Given the description of an element on the screen output the (x, y) to click on. 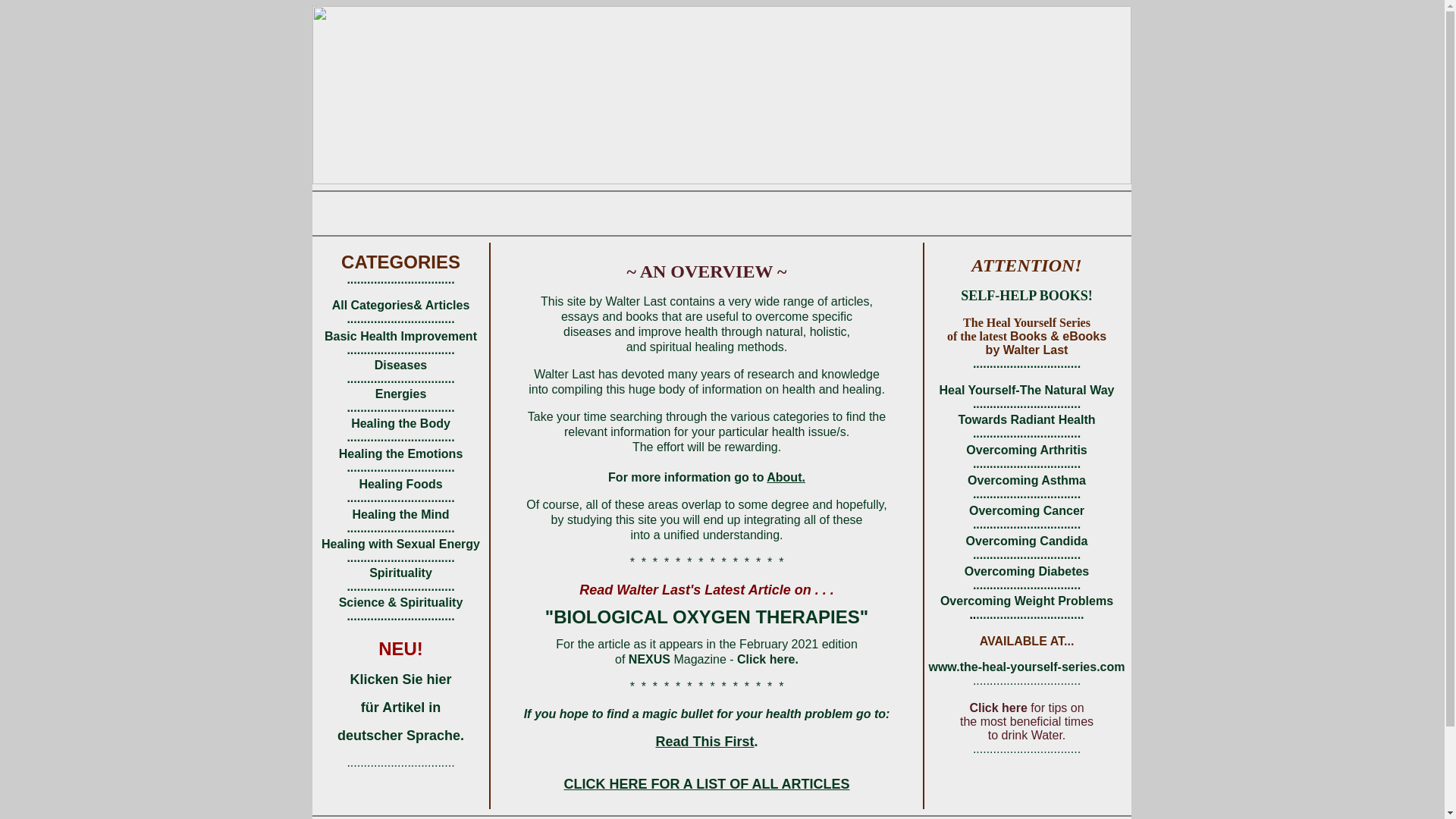
Overcoming Candida Element type: text (1027, 539)
................................ Element type: text (1029, 614)
CLICK HERE FOR A LIST OF ALL ARTICLES Element type: text (707, 783)
. Element type: text (755, 741)
Overcoming Asthma Element type: text (1026, 479)
www.the-heal-yourself-series.com Element type: text (1026, 665)
................................ Element type: text (400, 527)
Healing the Emotions Element type: text (400, 453)
Click here. Element type: text (767, 658)
Healing with Sexual Energy Element type: text (400, 543)
................................ Element type: text (400, 615)
Science & Spirituality Element type: text (400, 602)
"BIOLOGICAL OXYGEN THERAPIES" Element type: text (706, 616)
Healing Foods Element type: text (400, 483)
................................ Element type: text (400, 557)
Heal Yourself-The Natural Way Element type: text (1026, 389)
Overcoming Diabetes Element type: text (1026, 570)
Spirituality Element type: text (400, 572)
deutscher Sprache. Element type: text (400, 735)
Towards Radiant Health Element type: text (1026, 418)
About Element type: text (783, 476)
Energies Element type: text (400, 393)
Overcoming Weight Problems Element type: text (1026, 600)
All Categories& Articles Element type: text (401, 304)
................................ Element type: text (400, 407)
Healing the Body Element type: text (400, 423)
Healing the Mind Element type: text (399, 514)
Diseases Element type: text (400, 364)
................................ Element type: text (400, 467)
Klicken Sie hier Element type: text (400, 679)
. Element type: text (802, 476)
Overcoming Arthritis Element type: text (1026, 448)
................................ Element type: text (400, 586)
Basic Health Improvement Element type: text (400, 335)
Overcoming Cancer Element type: text (1026, 509)
Read This First Element type: text (704, 741)
